Given the description of an element on the screen output the (x, y) to click on. 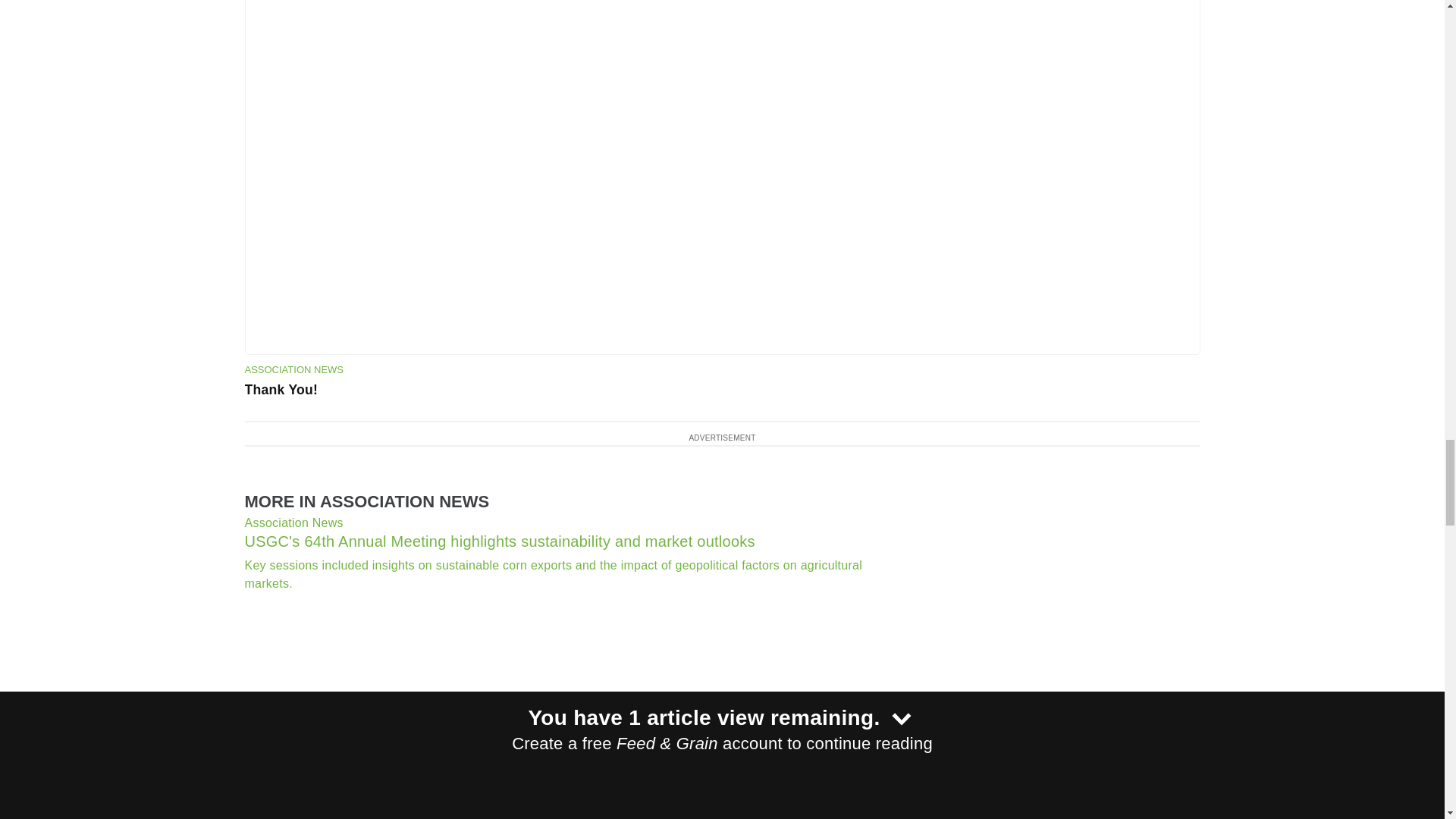
Brand Insights (560, 699)
